Given the description of an element on the screen output the (x, y) to click on. 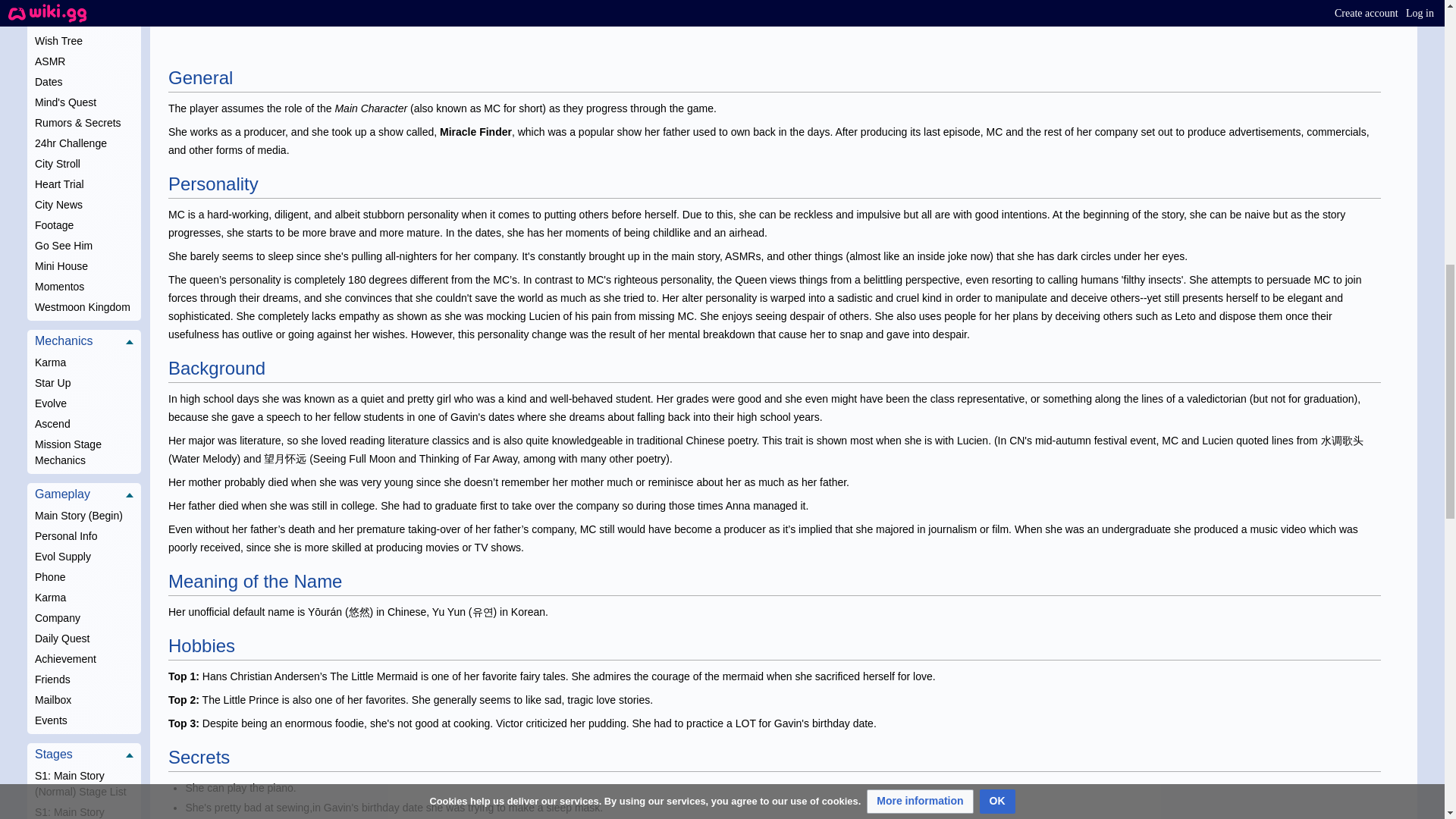
Wish Tree (84, 41)
ASMR (84, 61)
Dates (84, 82)
Box Office Contest (84, 20)
